Given the description of an element on the screen output the (x, y) to click on. 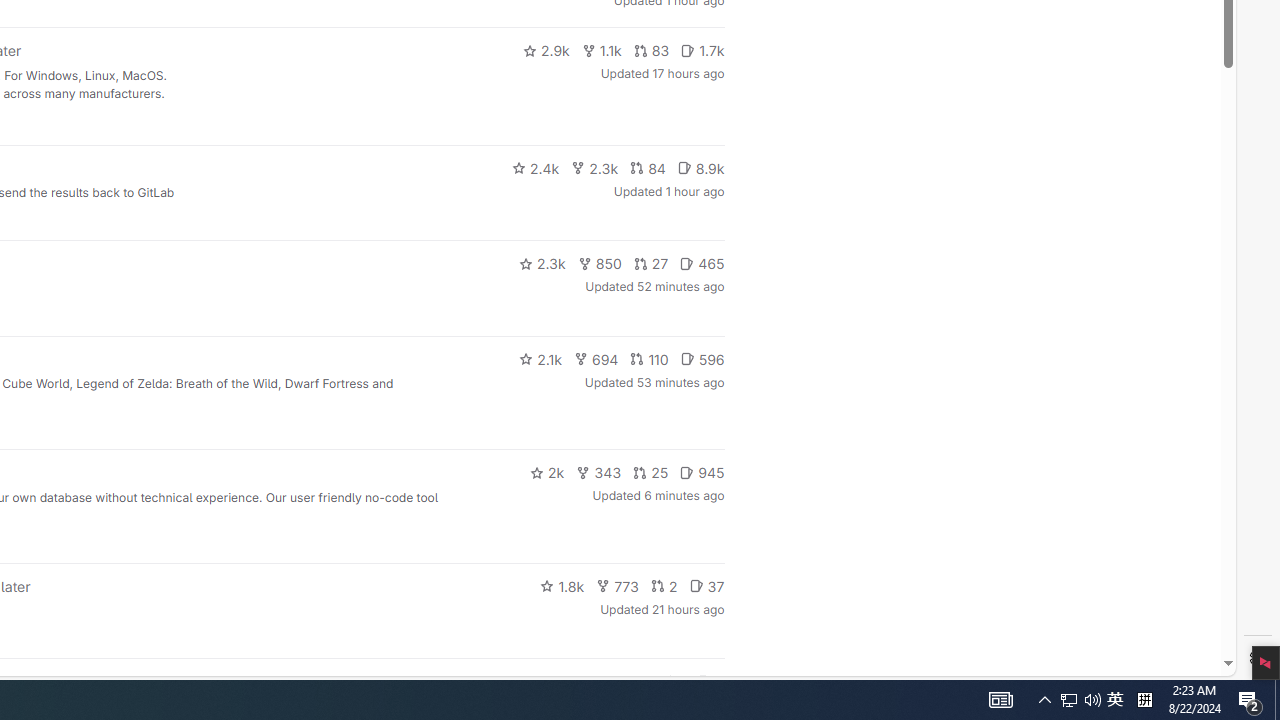
2 (664, 585)
773 (618, 585)
945 (701, 472)
2.9k (545, 50)
143 (629, 681)
27 (651, 263)
1.1k (601, 50)
84 (647, 167)
2.4k (535, 167)
850 (599, 263)
2.1k (539, 358)
6 (710, 681)
694 (596, 358)
8.9k (700, 167)
110 (649, 358)
